Given the description of an element on the screen output the (x, y) to click on. 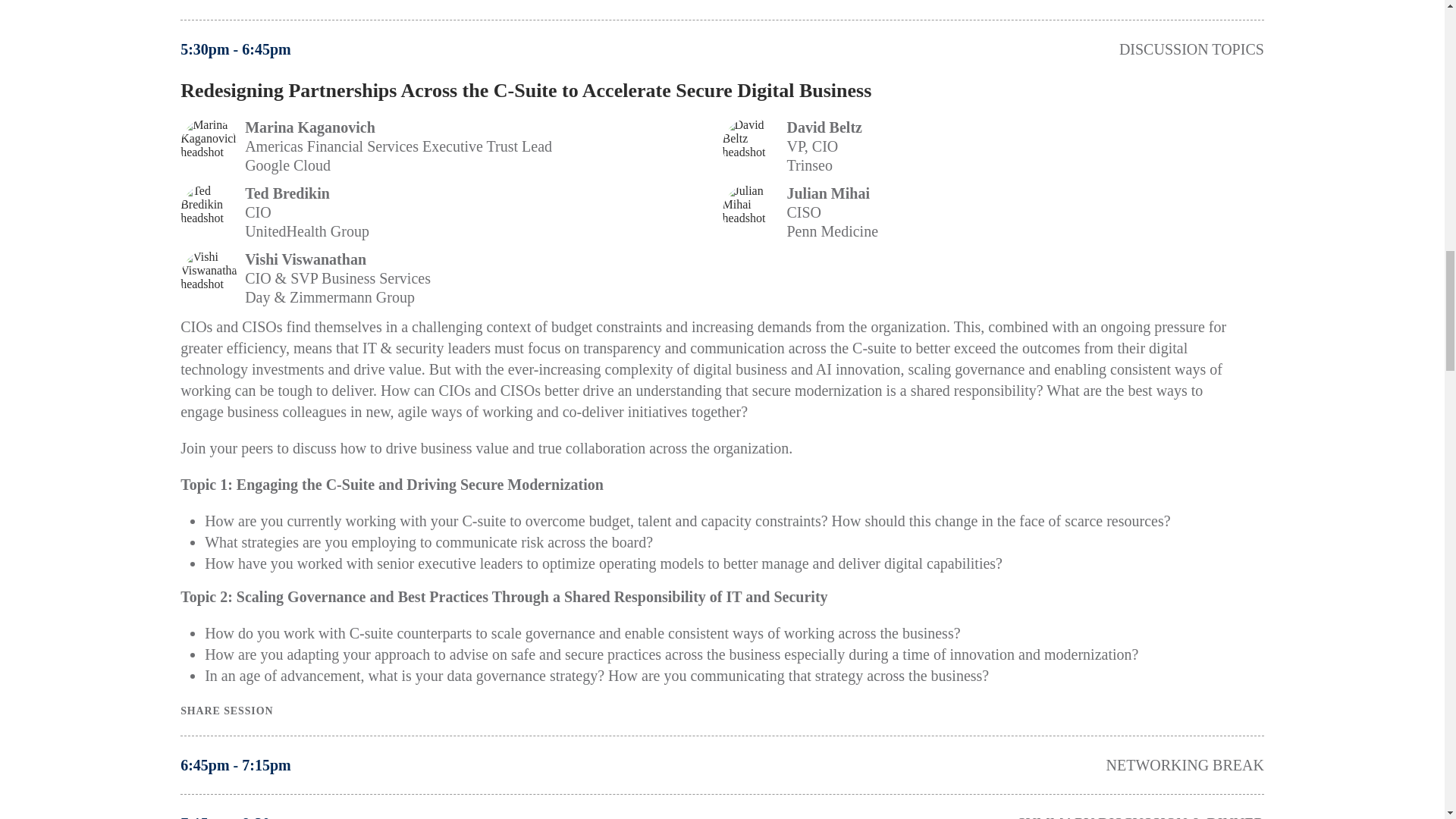
David Beltz headshot (750, 146)
Vishi Viswanathan headshot (208, 278)
Ted Bredikin headshot (208, 212)
Julian Mihai headshot (750, 212)
Marina Kaganovich headshot (208, 146)
